Given the description of an element on the screen output the (x, y) to click on. 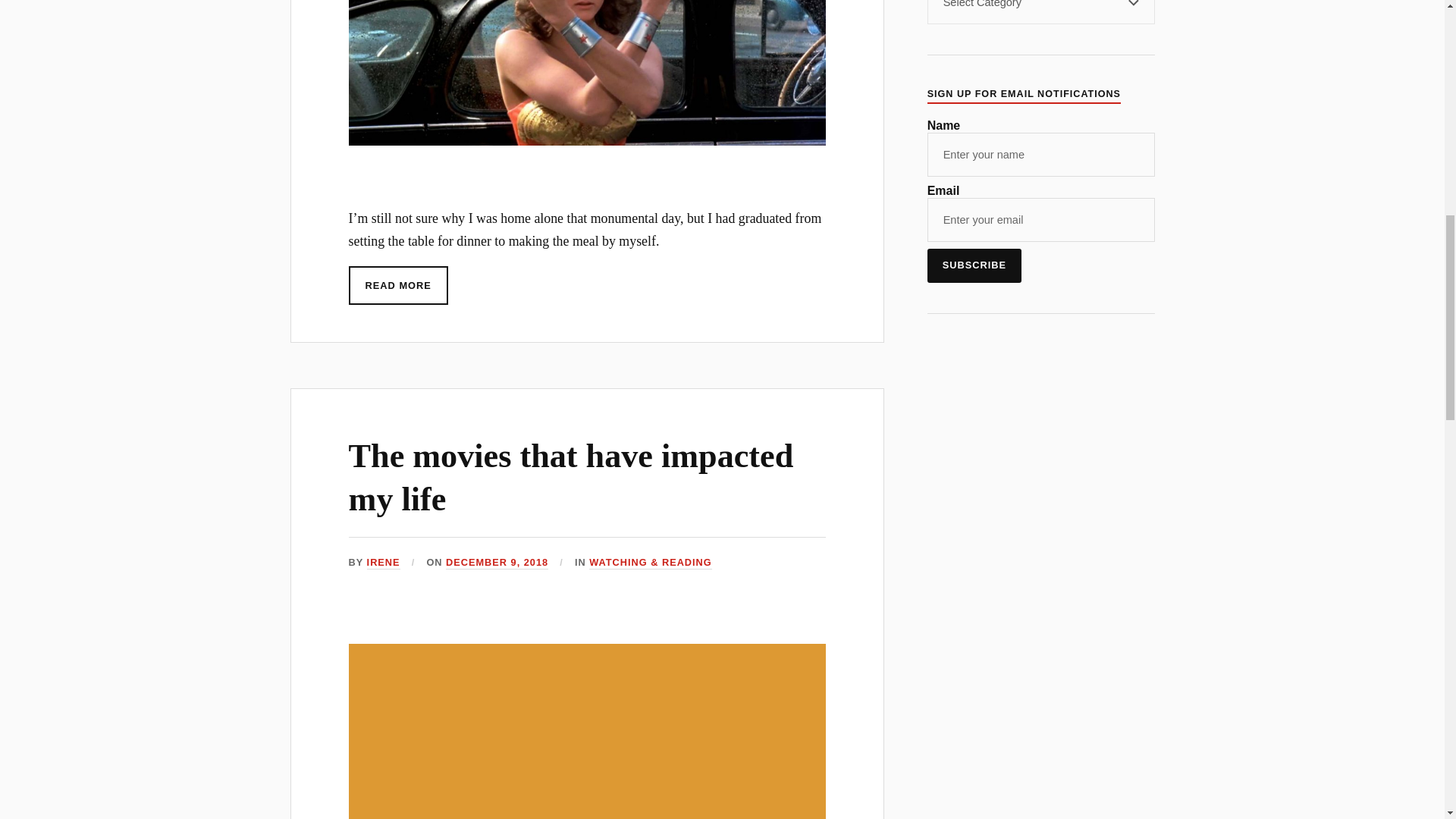
READ MORE (398, 285)
The movies that have impacted my life (571, 477)
DECEMBER 9, 2018 (496, 562)
Subscribe (974, 265)
IRENE (383, 562)
Posts by Irene (383, 562)
